Given the description of an element on the screen output the (x, y) to click on. 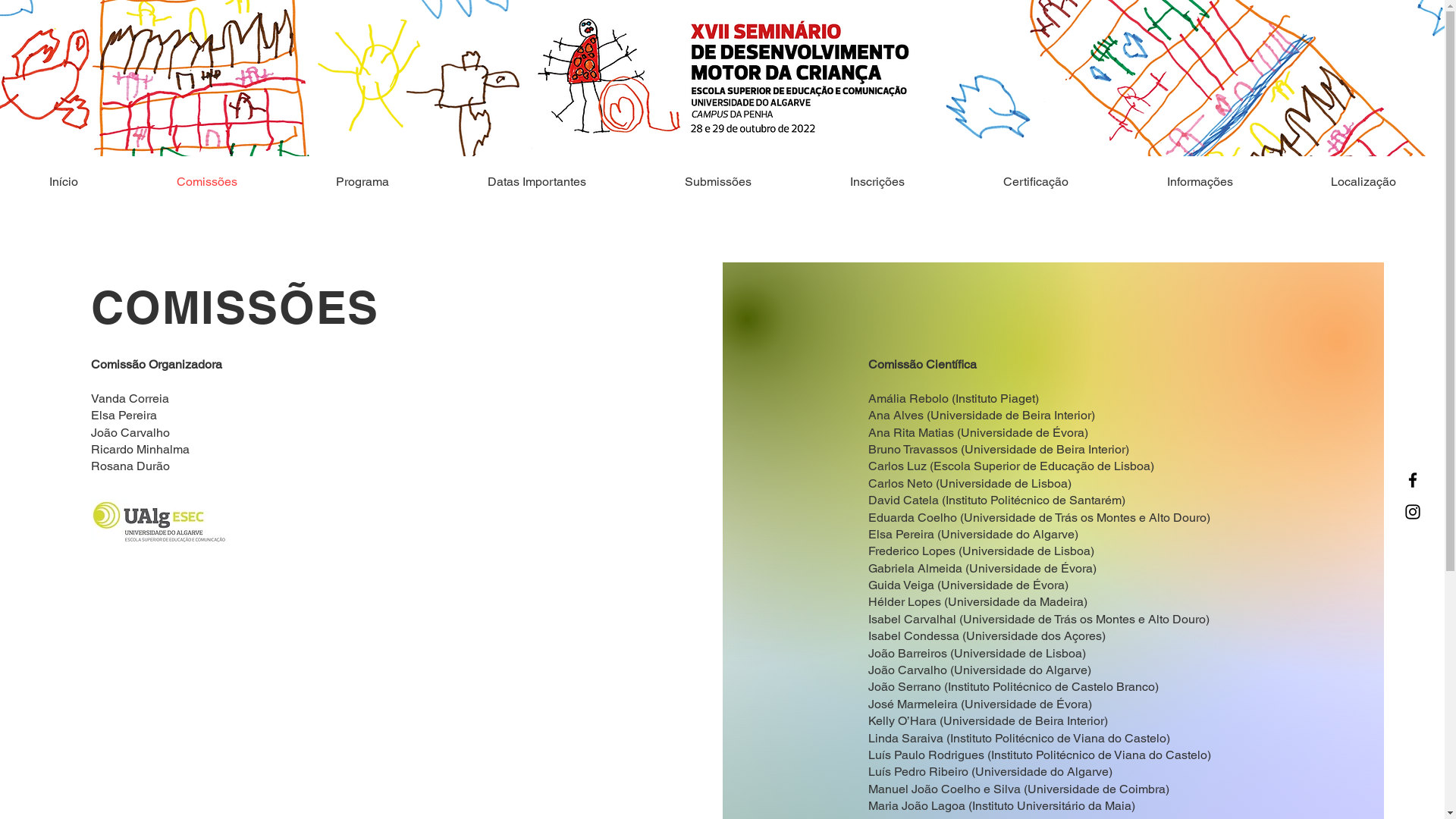
Datas Importantes Element type: text (536, 181)
Programa Element type: text (362, 181)
